Given the description of an element on the screen output the (x, y) to click on. 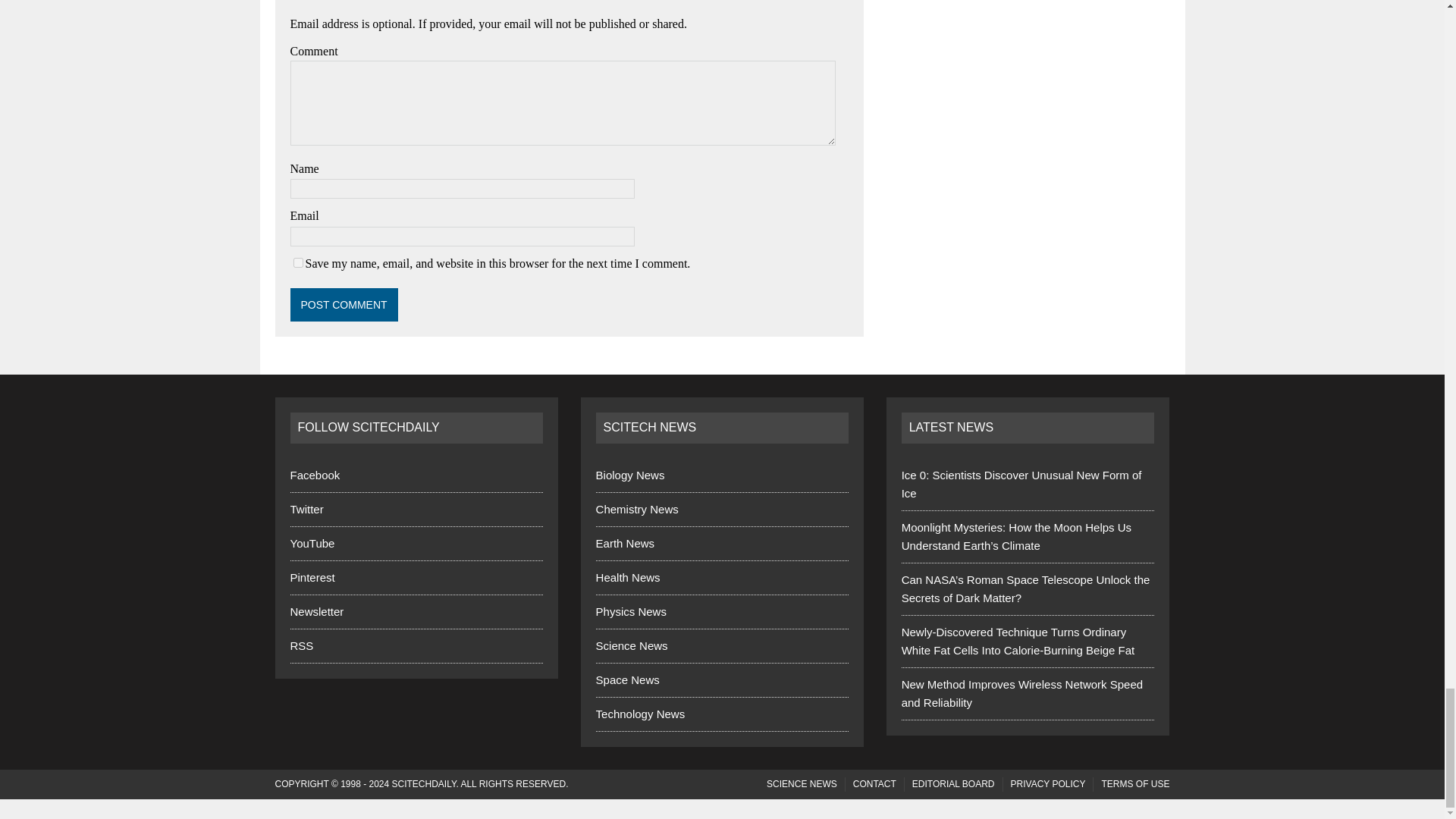
Post Comment (343, 304)
yes (297, 262)
